Given the description of an element on the screen output the (x, y) to click on. 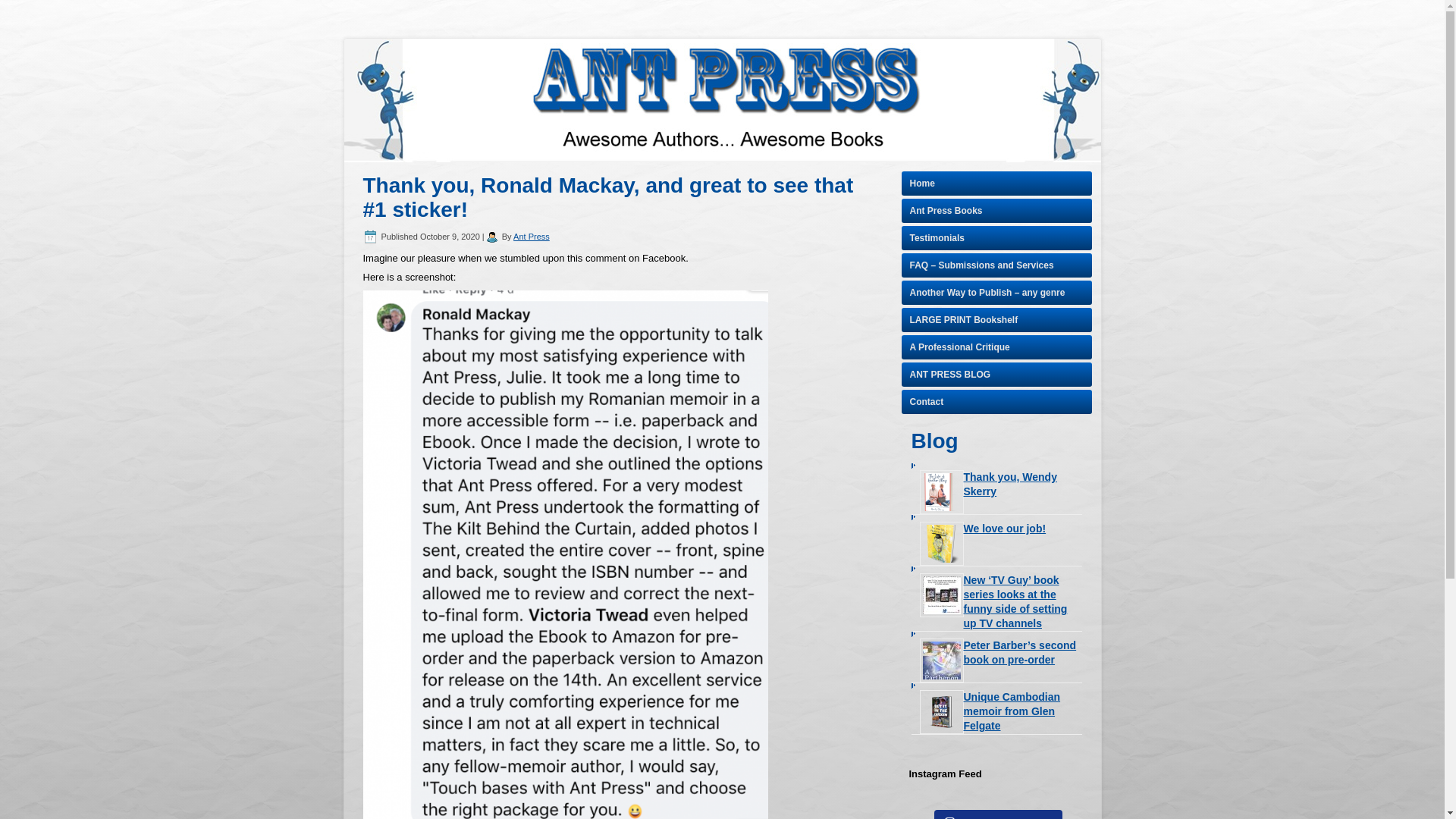
Ant Press Books (995, 210)
Home (995, 183)
Home (995, 183)
View all posts by Ant Press (531, 235)
Ant Press Books (995, 210)
1:18 am (450, 235)
Ant Press (531, 235)
